Given the description of an element on the screen output the (x, y) to click on. 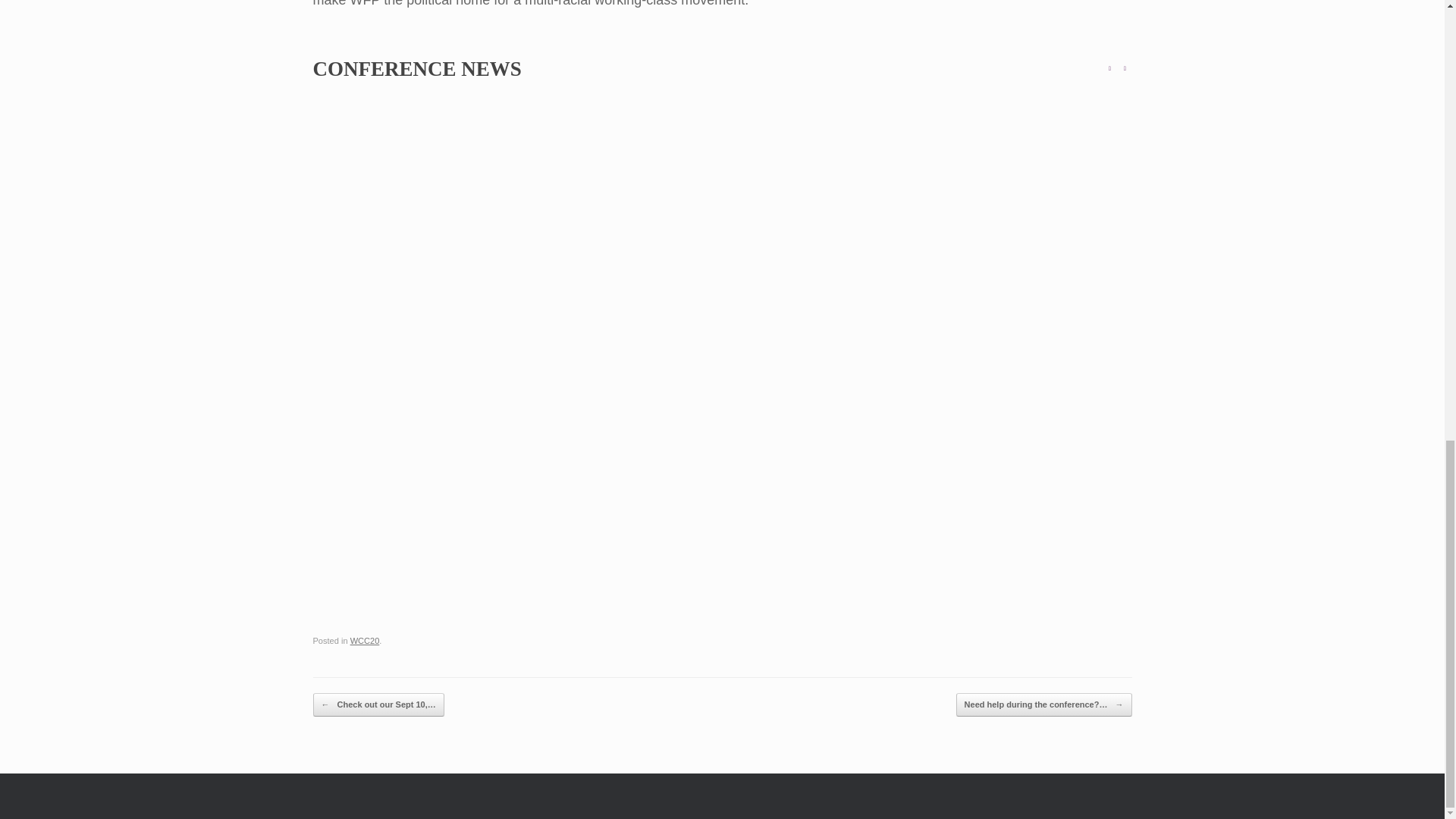
Previous (1109, 69)
Next (1124, 69)
WCC20 (365, 640)
